Given the description of an element on the screen output the (x, y) to click on. 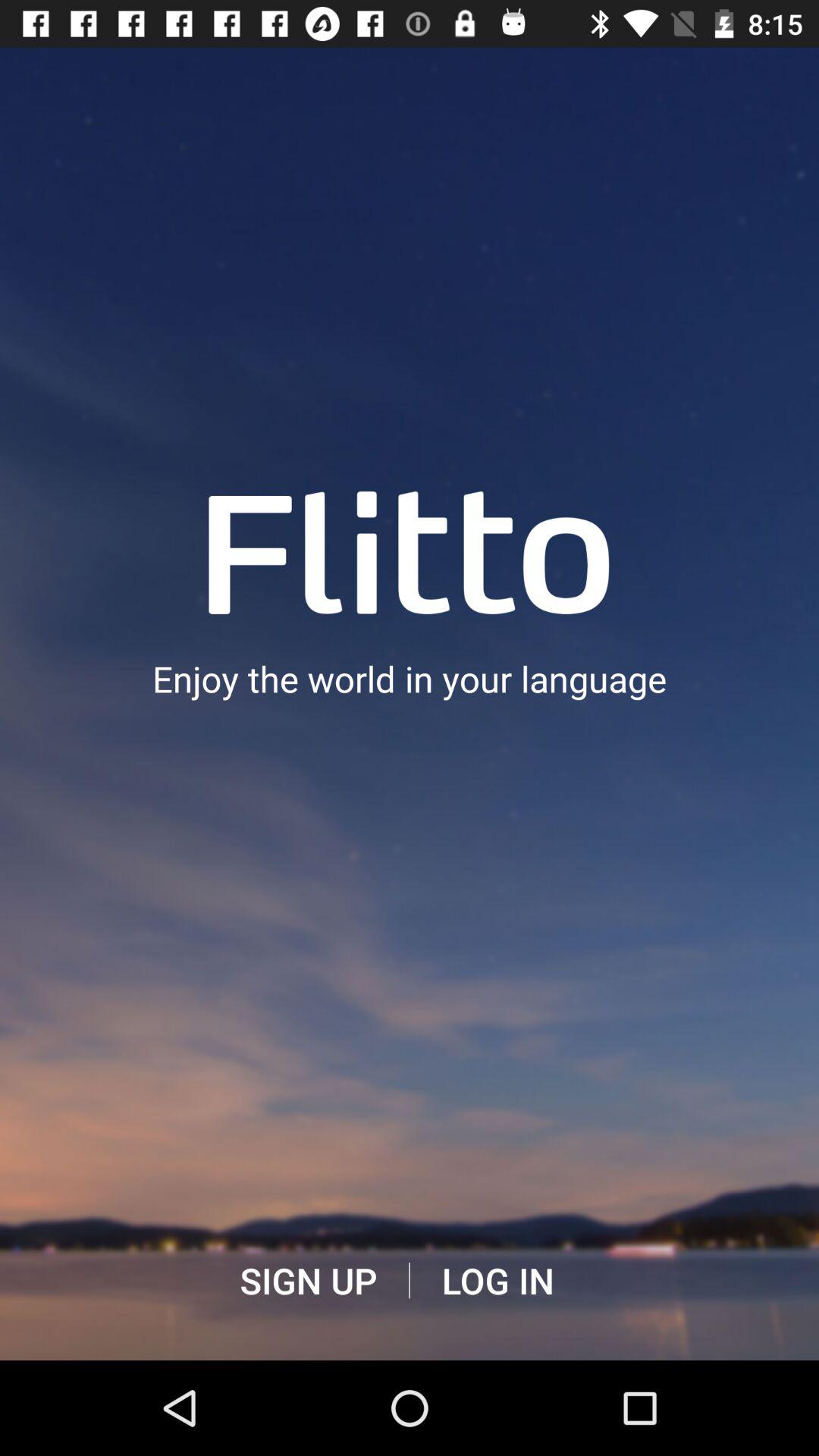
select the log in (498, 1280)
